Given the description of an element on the screen output the (x, y) to click on. 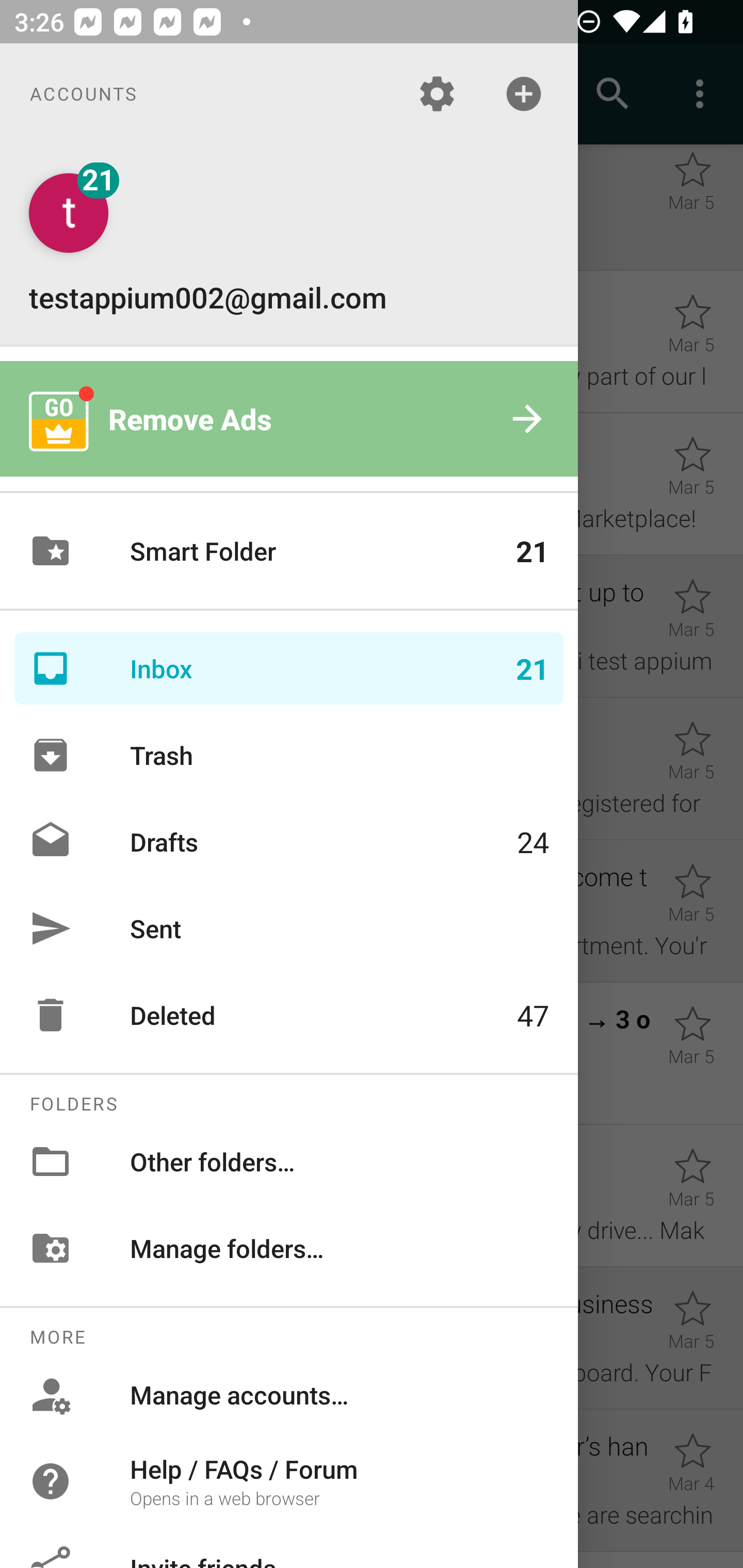
testappium002@gmail.com (289, 244)
Remove Ads (289, 418)
Smart Folder 21 (289, 551)
Inbox 21 (289, 668)
Trash (289, 754)
Drafts 24 (289, 841)
Sent (289, 928)
Deleted 47 (289, 1015)
Other folders… (289, 1160)
Manage folders… (289, 1248)
Manage accounts… (289, 1394)
Help / FAQs / Forum Opens in a web browser (289, 1480)
